Given the description of an element on the screen output the (x, y) to click on. 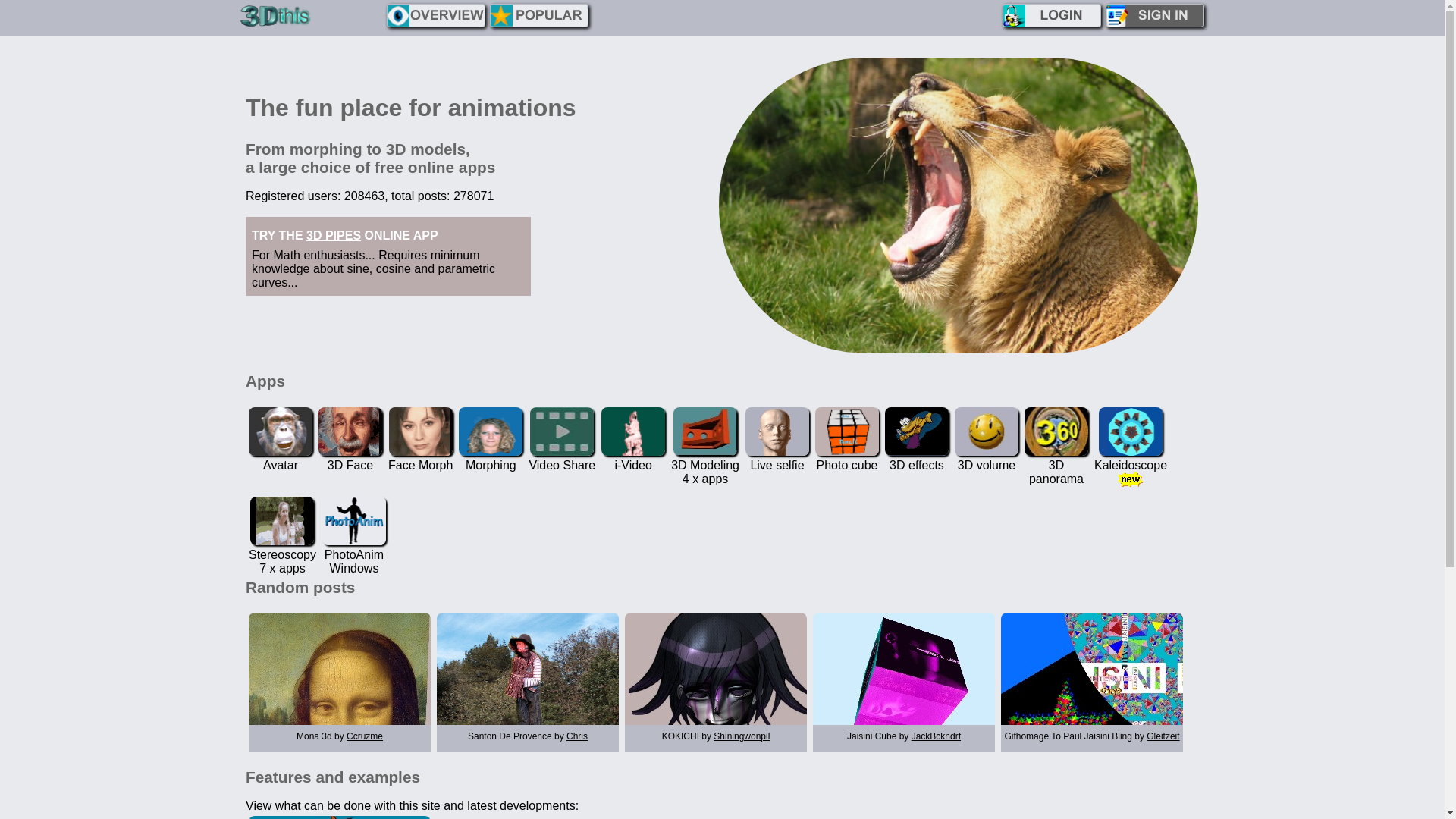
View Santon De Provence by Chris Element type: hover (527, 680)
View Mona 3d by Ccruzme Element type: hover (339, 680)
Give volume to a photo Element type: hover (986, 430)
JackBckndrf Element type: text (935, 736)
Gleitzeit Element type: text (1162, 736)
3D PIPES Element type: text (333, 235)
Create a 3D printable Photo Cube Element type: hover (846, 430)
Join for free Element type: hover (1154, 15)
Ccruzme Element type: text (364, 736)
Chris Element type: text (576, 736)
View Gifhomage To Paul Jaisini Bling by Gleitzeit Element type: hover (1092, 680)
Create an animated selfie Element type: hover (777, 430)
Turn a video sequence into an animation Element type: hover (633, 430)
Funny 3D effects on any pic Element type: hover (916, 430)
Posts overview Element type: hover (435, 15)
Instant morph between faces Element type: hover (420, 430)
Turn a face pic into a 3D model Element type: hover (350, 430)
3D modeling, 3D printer friendly Element type: hover (705, 430)
Animate a 3D Face model with your cam Element type: hover (280, 430)
View KOKICHI by Shiningwonpil Element type: hover (715, 680)
Popular posters Element type: hover (538, 15)
Free video publisher Element type: hover (561, 430)
Login Element type: hover (1051, 15)
Shiningwonpil Element type: text (741, 736)
View Jaisini Cube by JackBckndrf Element type: hover (903, 680)
